Given the description of an element on the screen output the (x, y) to click on. 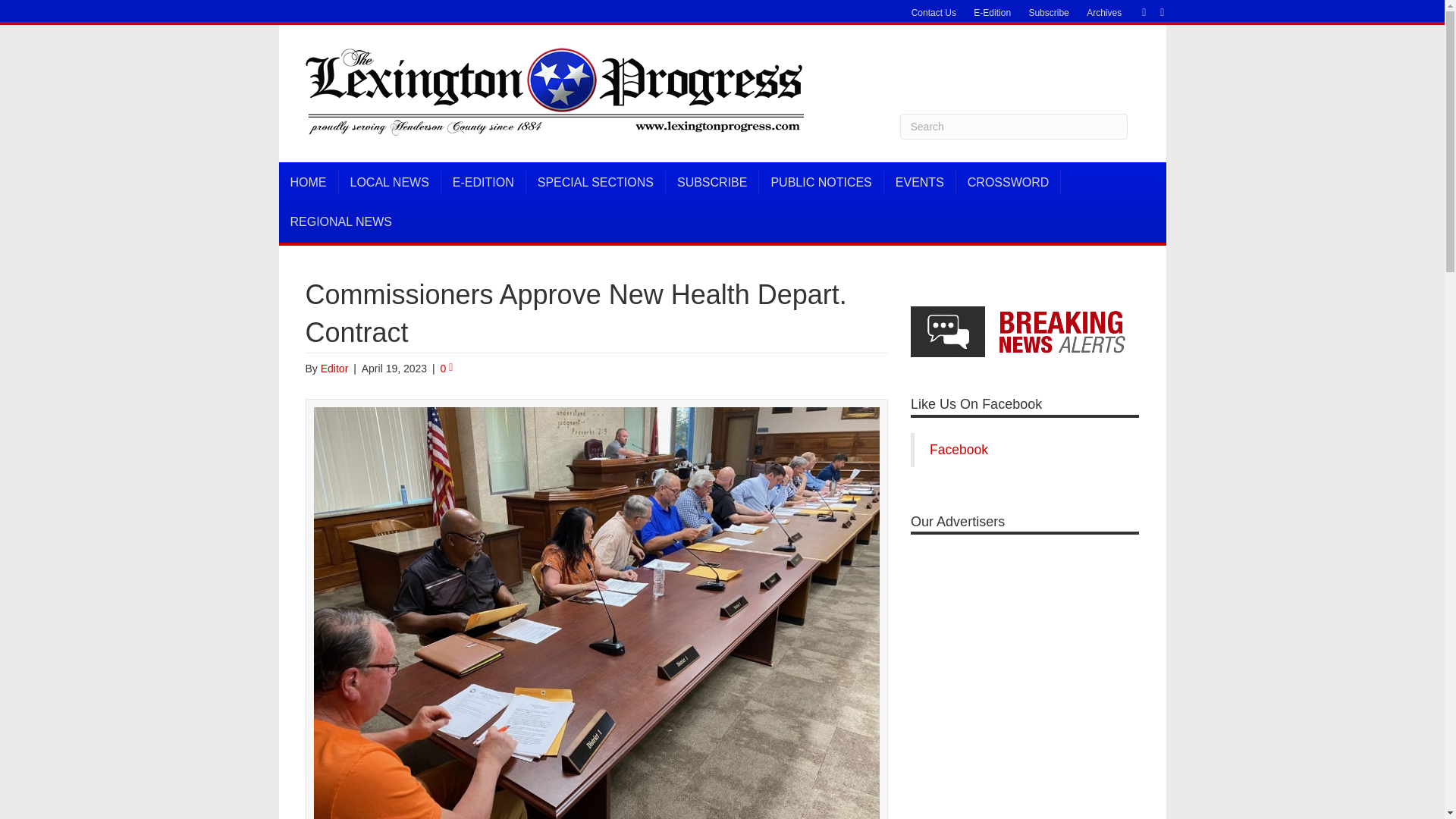
Email (1154, 11)
Type and press Enter to search. (1012, 126)
E-EDITION (483, 182)
0 (446, 368)
Archives (1103, 13)
REGIONAL NEWS (341, 221)
HOME (309, 182)
CROSSWORD (1008, 182)
SUBSCRIBE (711, 182)
E-Edition (991, 13)
Subscribe (1047, 13)
LOCAL NEWS (389, 182)
Contact Us (933, 13)
PUBLIC NOTICES (820, 182)
Editor (334, 368)
